Given the description of an element on the screen output the (x, y) to click on. 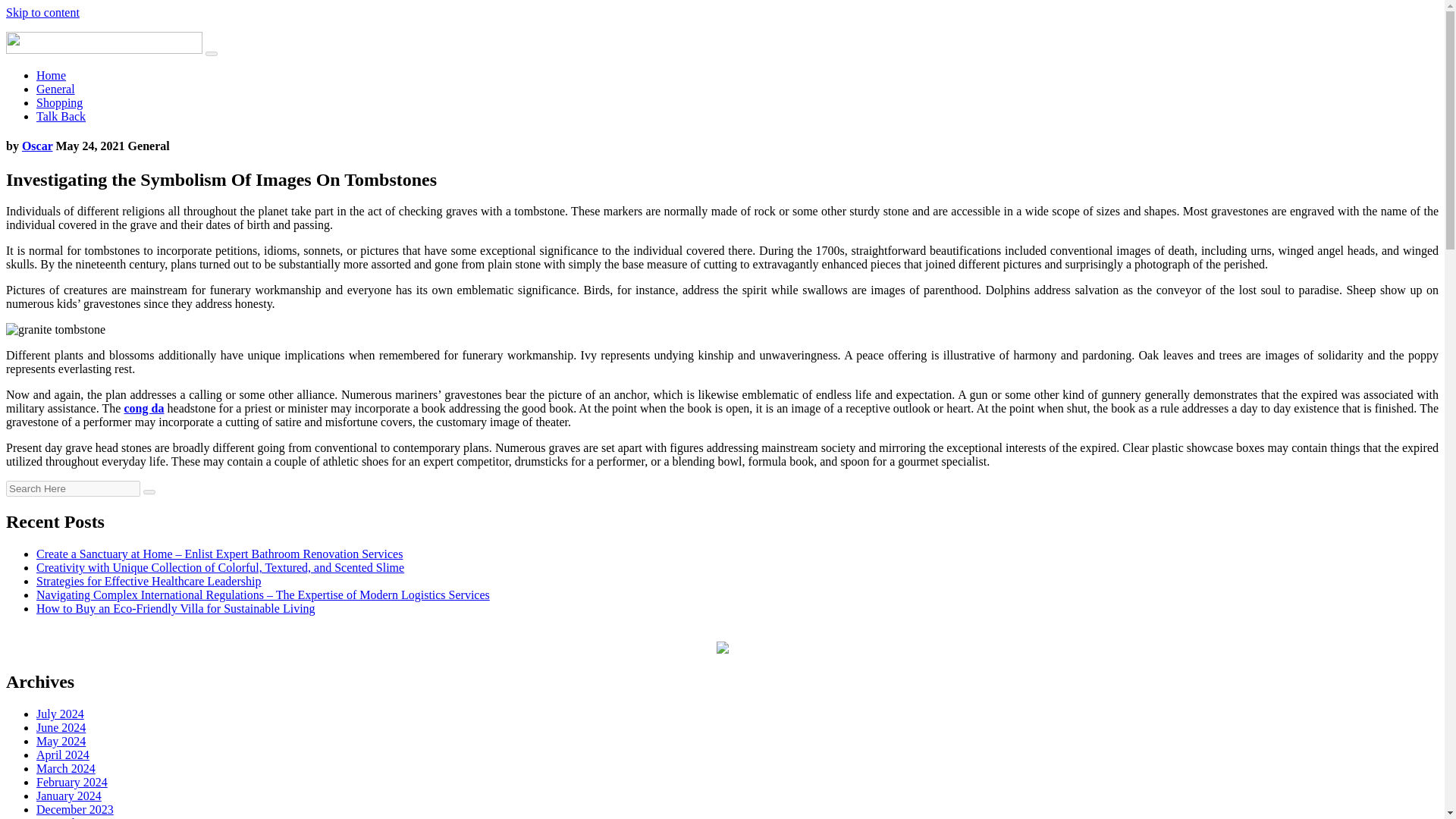
July 2024 (60, 713)
Skip to content (42, 11)
Oscar (36, 145)
Home (50, 74)
cong da (143, 408)
How to Buy an Eco-Friendly Villa for Sustainable Living (175, 608)
Strategies for Effective Healthcare Leadership (148, 581)
June 2024 (60, 727)
January 2024 (68, 795)
May 2024 (60, 740)
April 2024 (62, 754)
December 2023 (74, 809)
Shopping (59, 102)
General (55, 88)
